Given the description of an element on the screen output the (x, y) to click on. 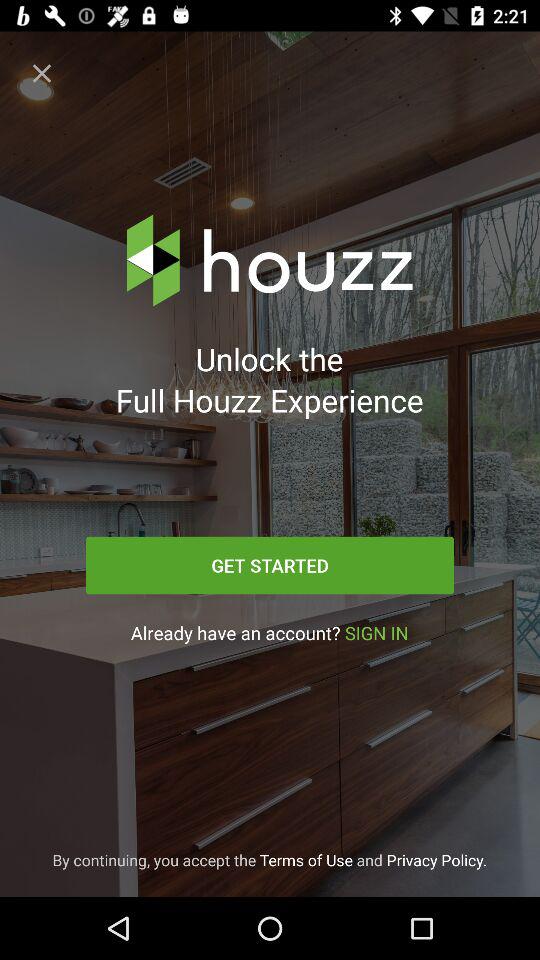
launch the by continuing you item (269, 859)
